Given the description of an element on the screen output the (x, y) to click on. 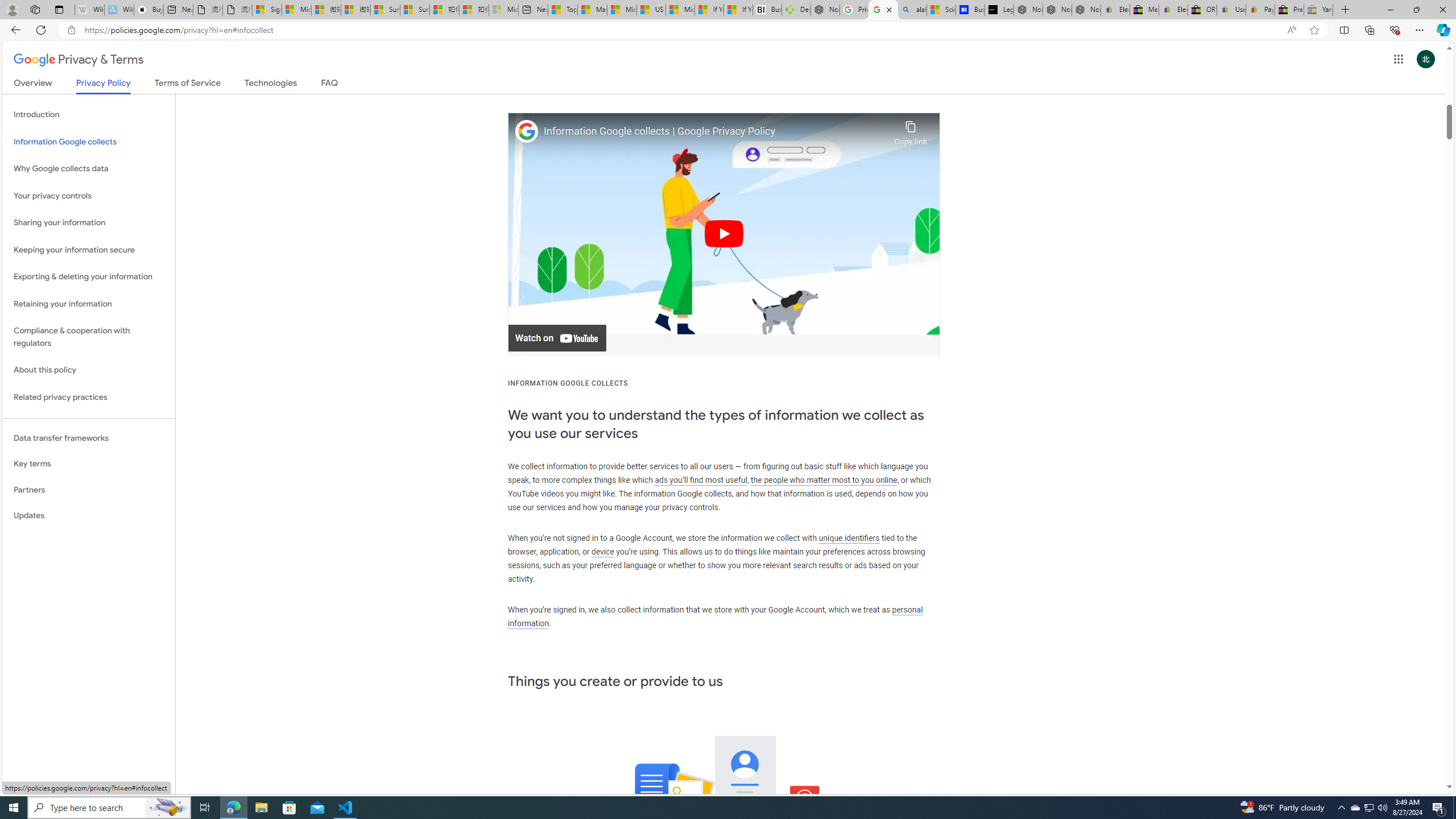
US Heat Deaths Soared To Record High Last Year (651, 9)
Nordace - My Account (825, 9)
